Given the description of an element on the screen output the (x, y) to click on. 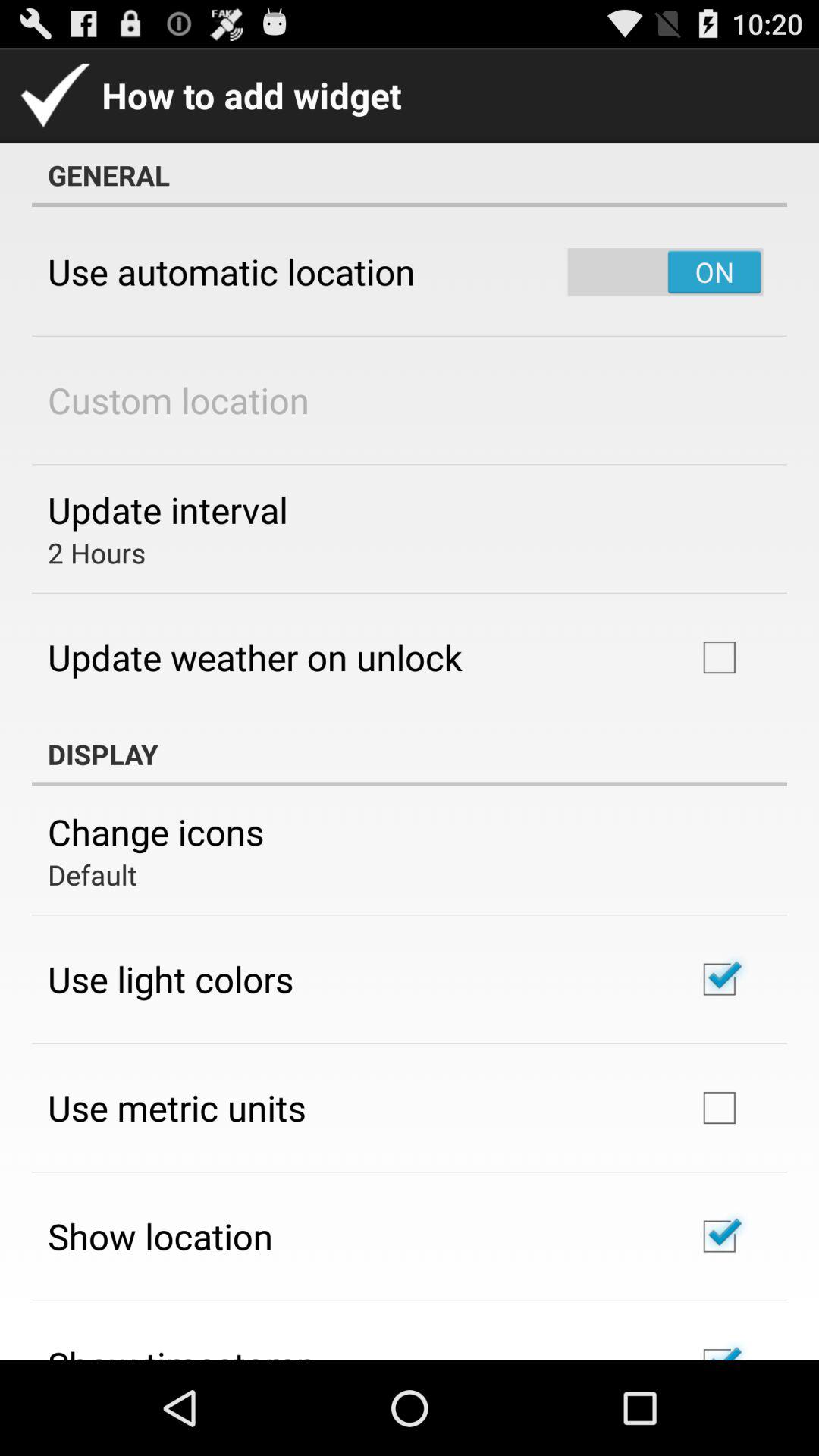
flip to custom location item (178, 399)
